Given the description of an element on the screen output the (x, y) to click on. 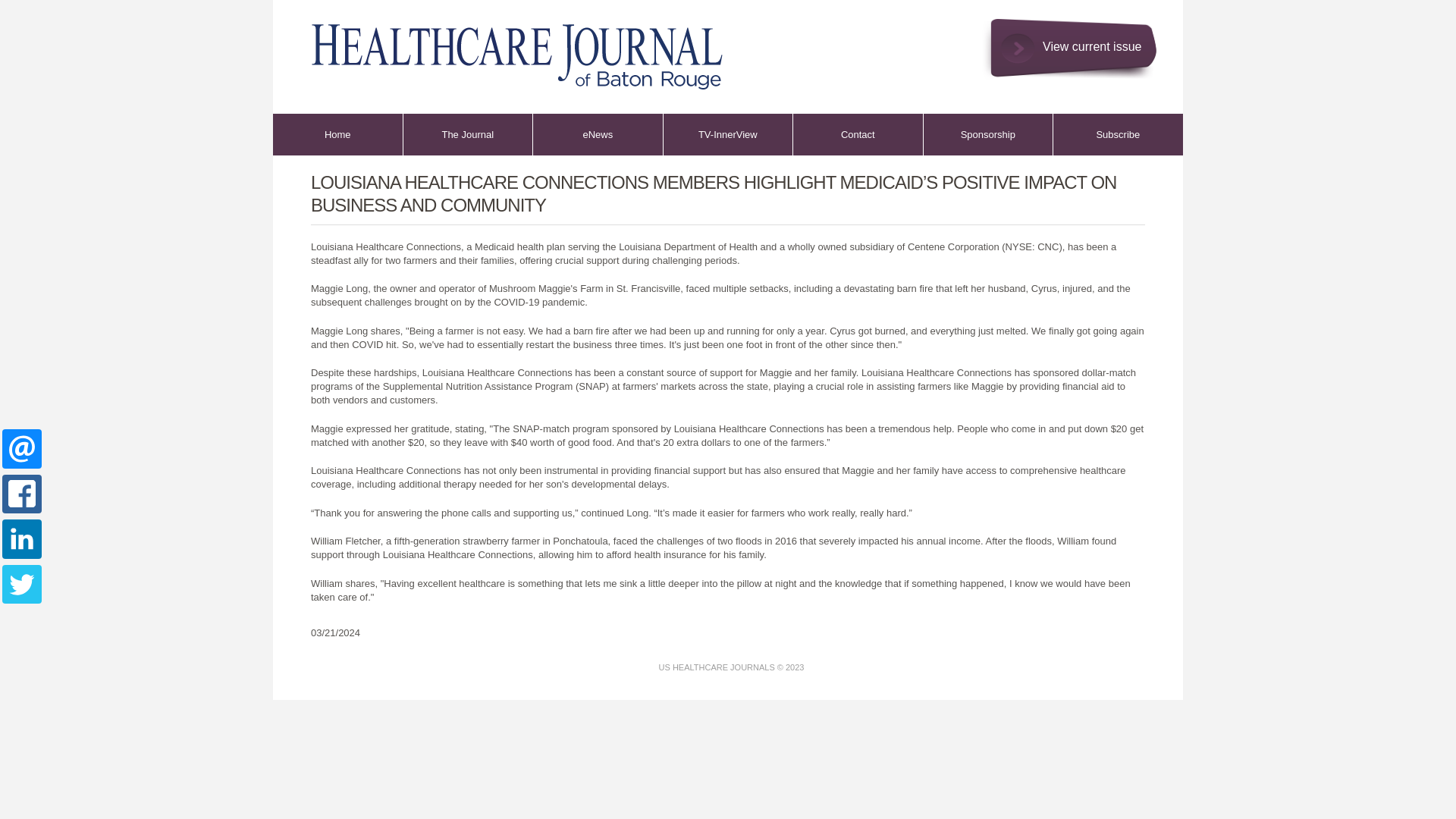
Home (338, 134)
TV-InnerView (728, 134)
View current issue (1069, 36)
Contact (858, 134)
eNews (597, 134)
Subscribe (1117, 134)
Sponsorship (987, 134)
TV-InnerView (728, 134)
The Journal (467, 134)
Home (503, 49)
